Given the description of an element on the screen output the (x, y) to click on. 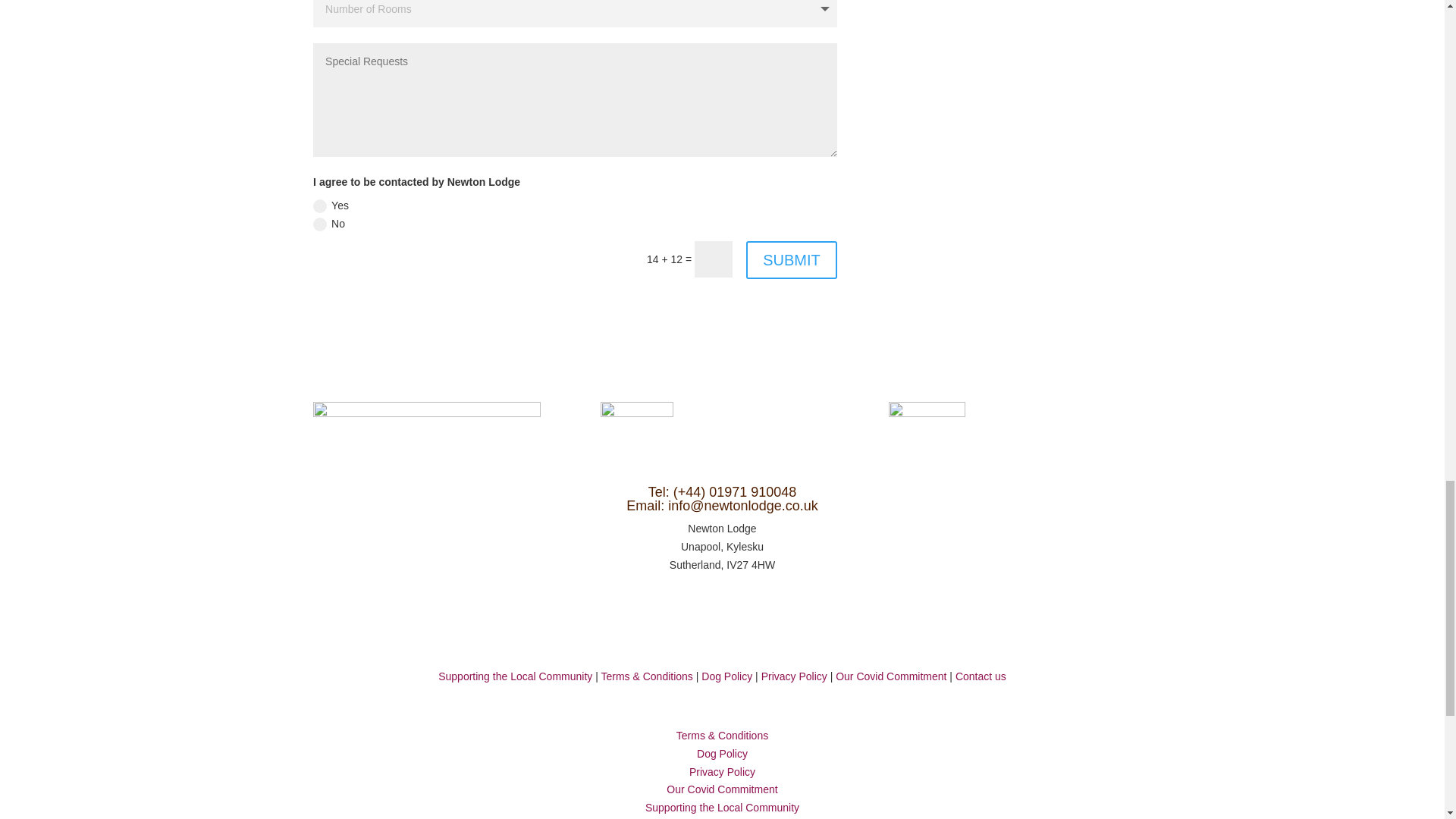
Follow on Facebook (706, 608)
living-wage-employer (926, 432)
Supporting the Local Community (515, 676)
HCH-logo-1 (426, 423)
SUBMIT (791, 259)
Follow on Instagram (737, 608)
Newton-Lodge-Footer-Logo (635, 432)
